Given the description of an element on the screen output the (x, y) to click on. 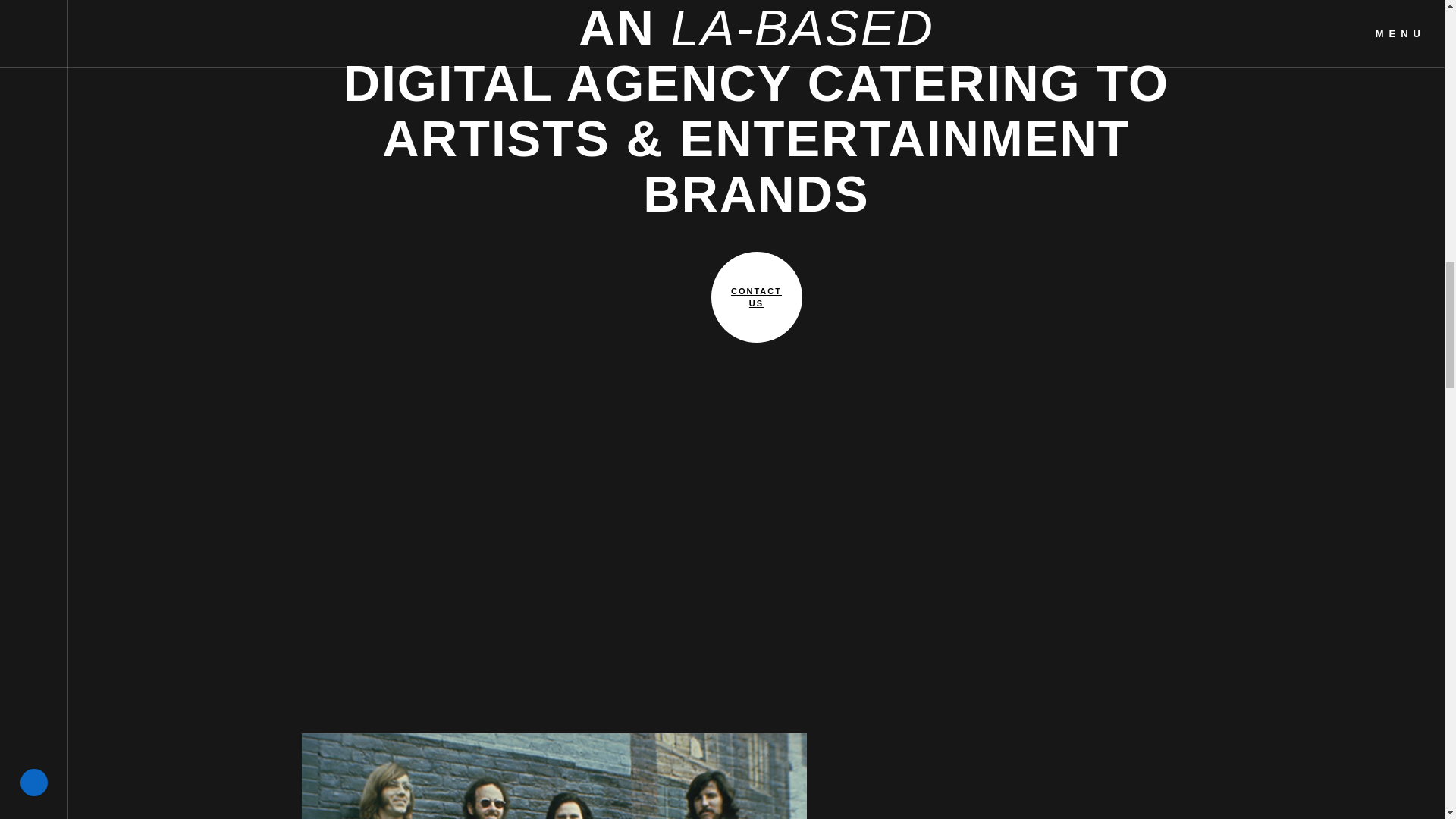
CONTACT US (756, 297)
